Given the description of an element on the screen output the (x, y) to click on. 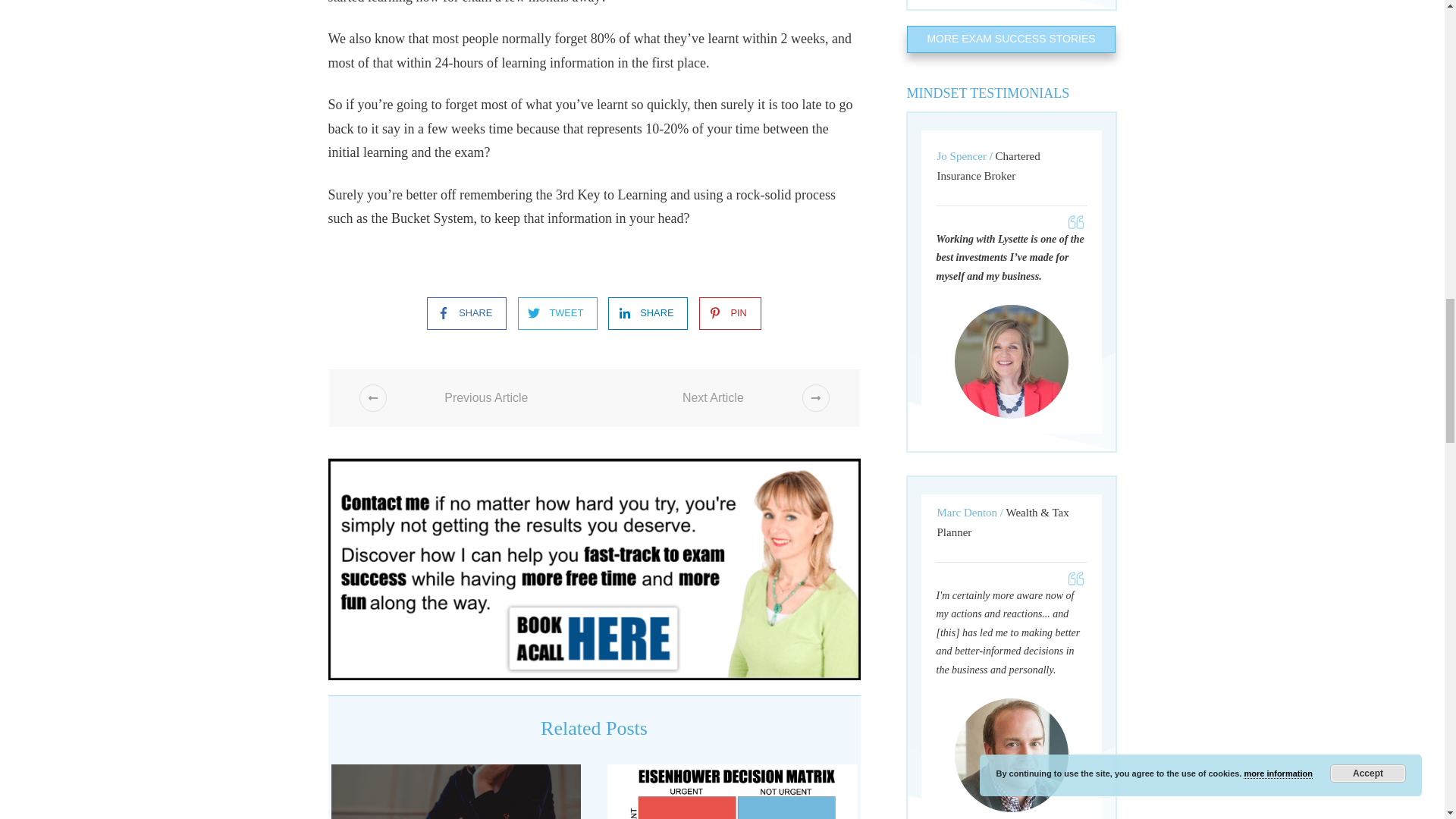
Marc Denton (1010, 755)
SHARE (460, 313)
Jo Spencer (1010, 361)
TWEET (550, 313)
Book a Pass Exams Easily Discovery Call (593, 568)
